Given the description of an element on the screen output the (x, y) to click on. 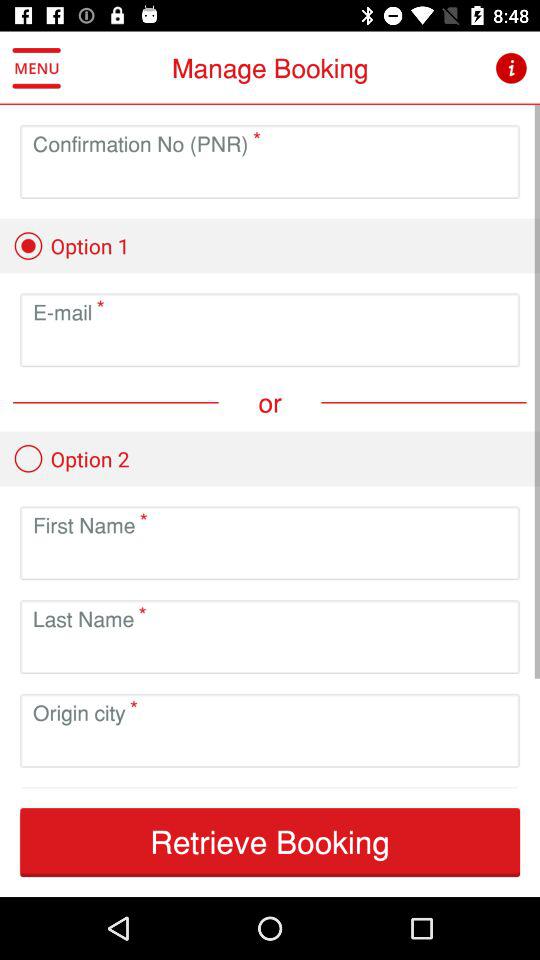
city entry box (270, 746)
